Given the description of an element on the screen output the (x, y) to click on. 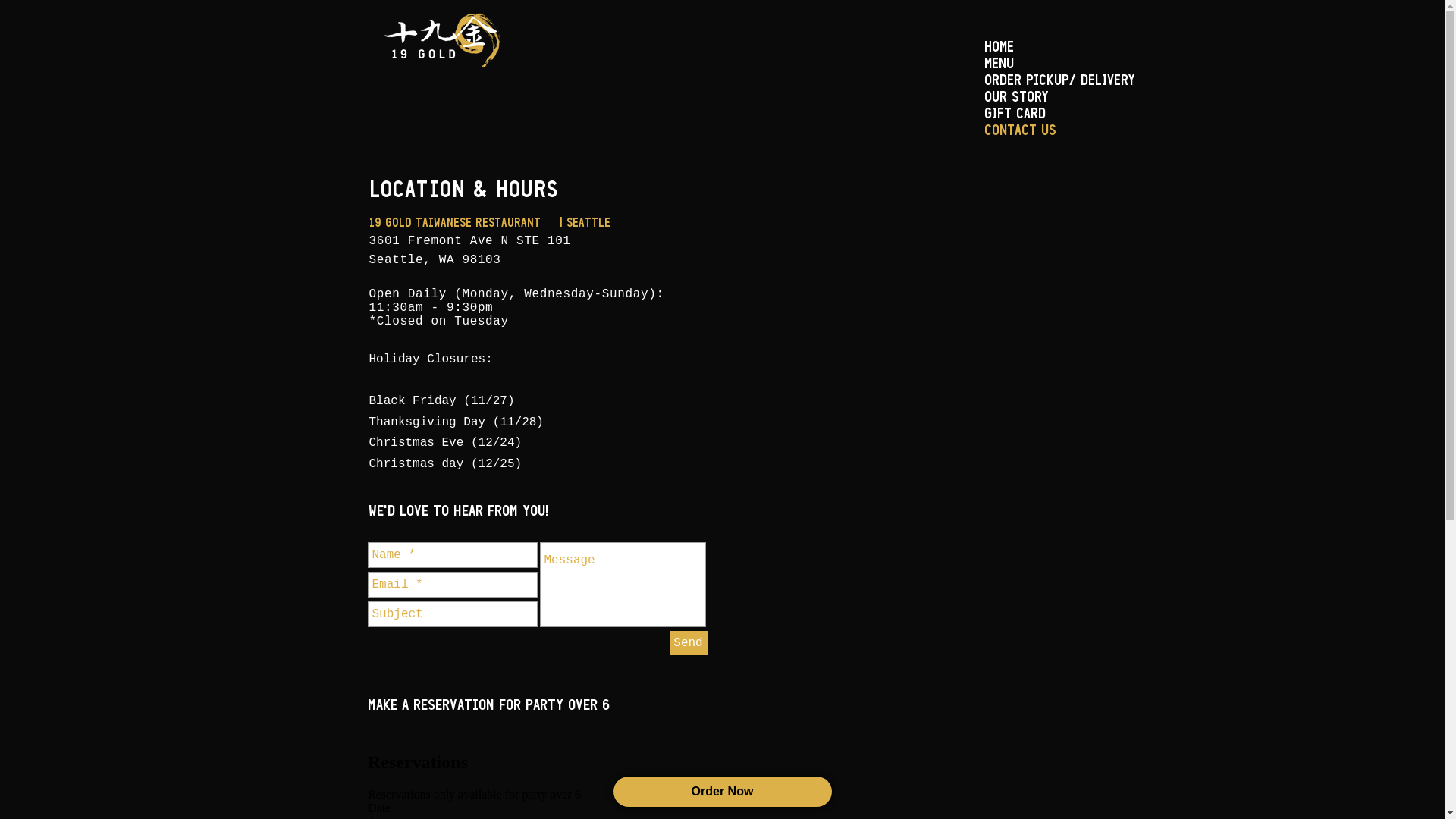
GIFT CARD Element type: text (1059, 114)
OUR STORY Element type: text (1059, 97)
ORDER PICKUP/ DELIVERY Element type: text (1059, 80)
Google Maps Element type: hover (905, 337)
Order Now Element type: text (721, 791)
MENU Element type: text (1059, 64)
HOME Element type: text (1059, 47)
CONTACT US Element type: text (1059, 130)
Send Element type: text (687, 642)
